Given the description of an element on the screen output the (x, y) to click on. 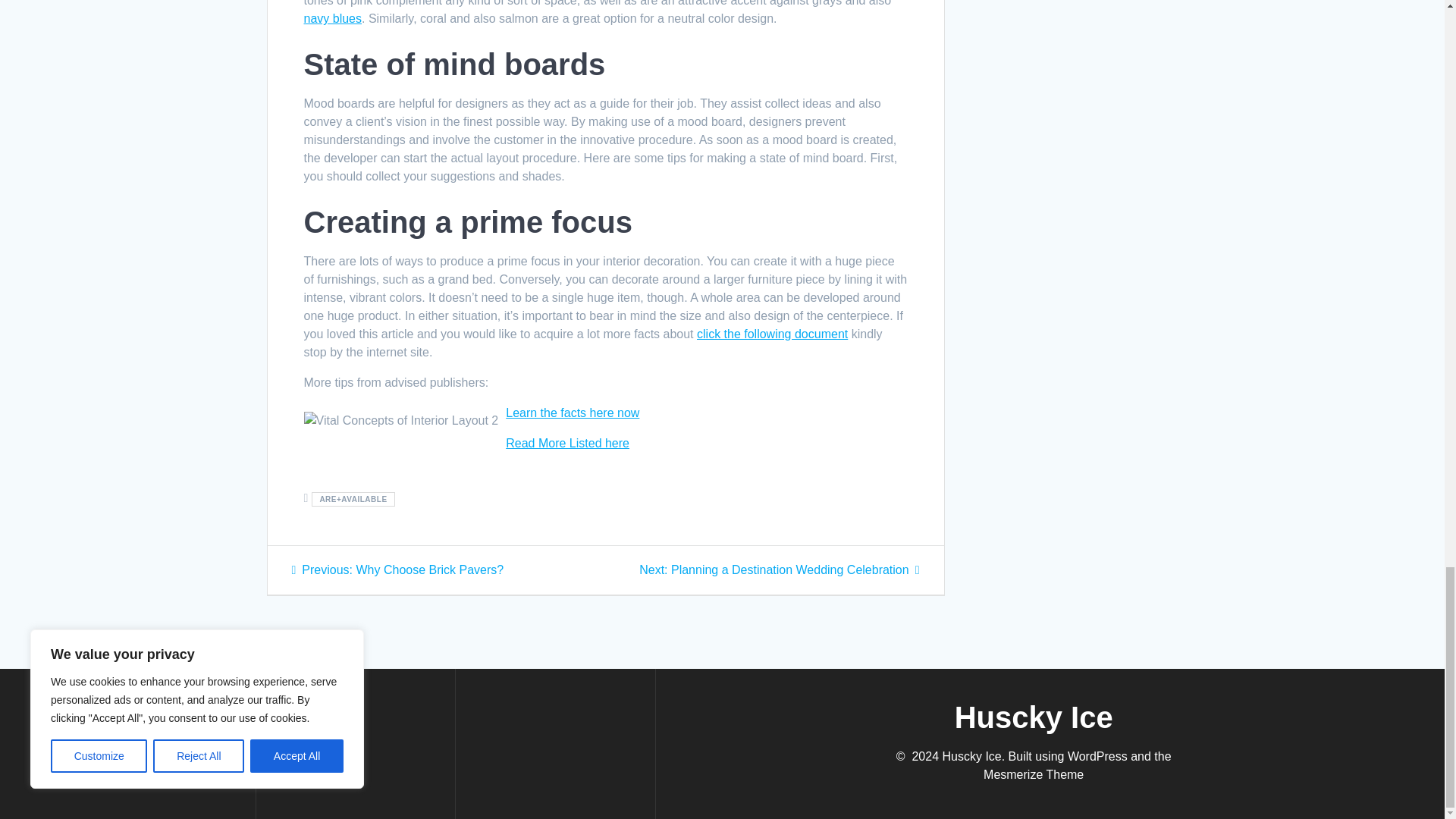
Learn the facts here now (572, 412)
navy blues (397, 569)
click the following document (331, 18)
Read More Listed here (772, 333)
